Given the description of an element on the screen output the (x, y) to click on. 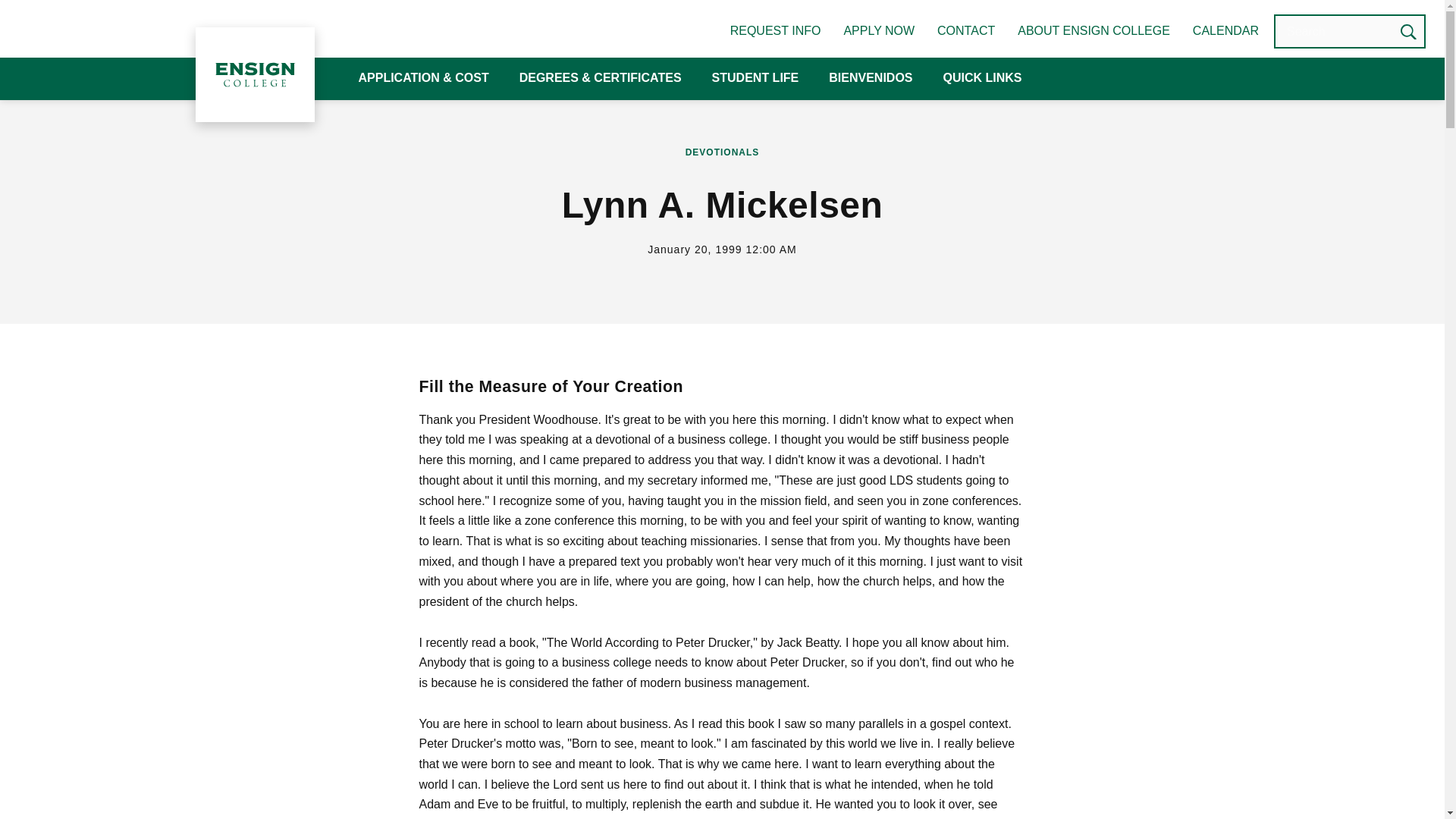
REQUEST INFO (775, 30)
DEVOTIONALS (722, 152)
STUDENT LIFE (755, 78)
QUICK LINKS (982, 78)
APPLY NOW (878, 30)
BIENVENIDOS (870, 78)
CALENDAR (1225, 30)
ABOUT ENSIGN COLLEGE (1093, 30)
Search (1408, 31)
CONTACT (965, 30)
